Given the description of an element on the screen output the (x, y) to click on. 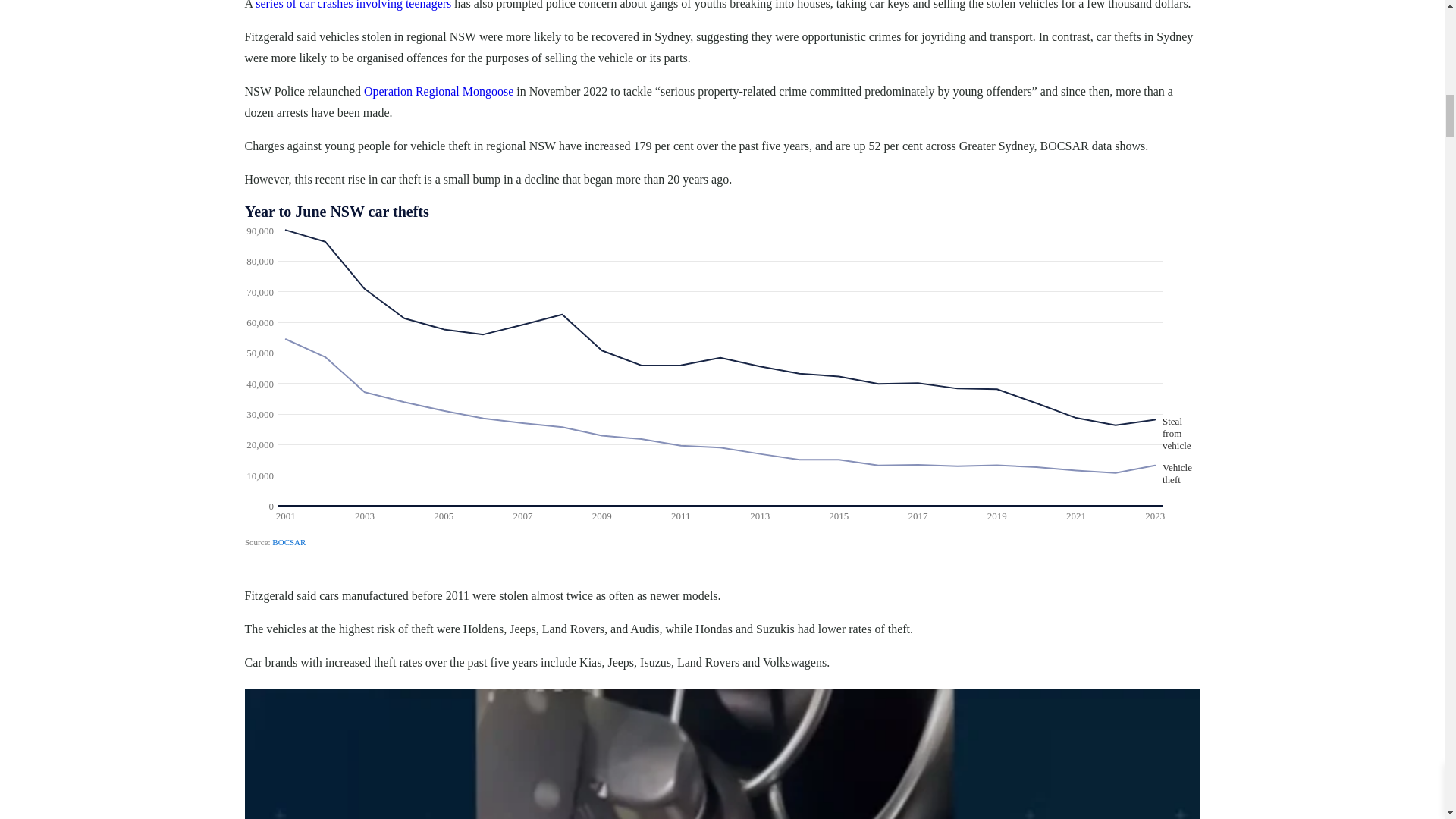
Operation Regional Mongoose (438, 91)
series of car crashes involving teenagers (353, 4)
